Given the description of an element on the screen output the (x, y) to click on. 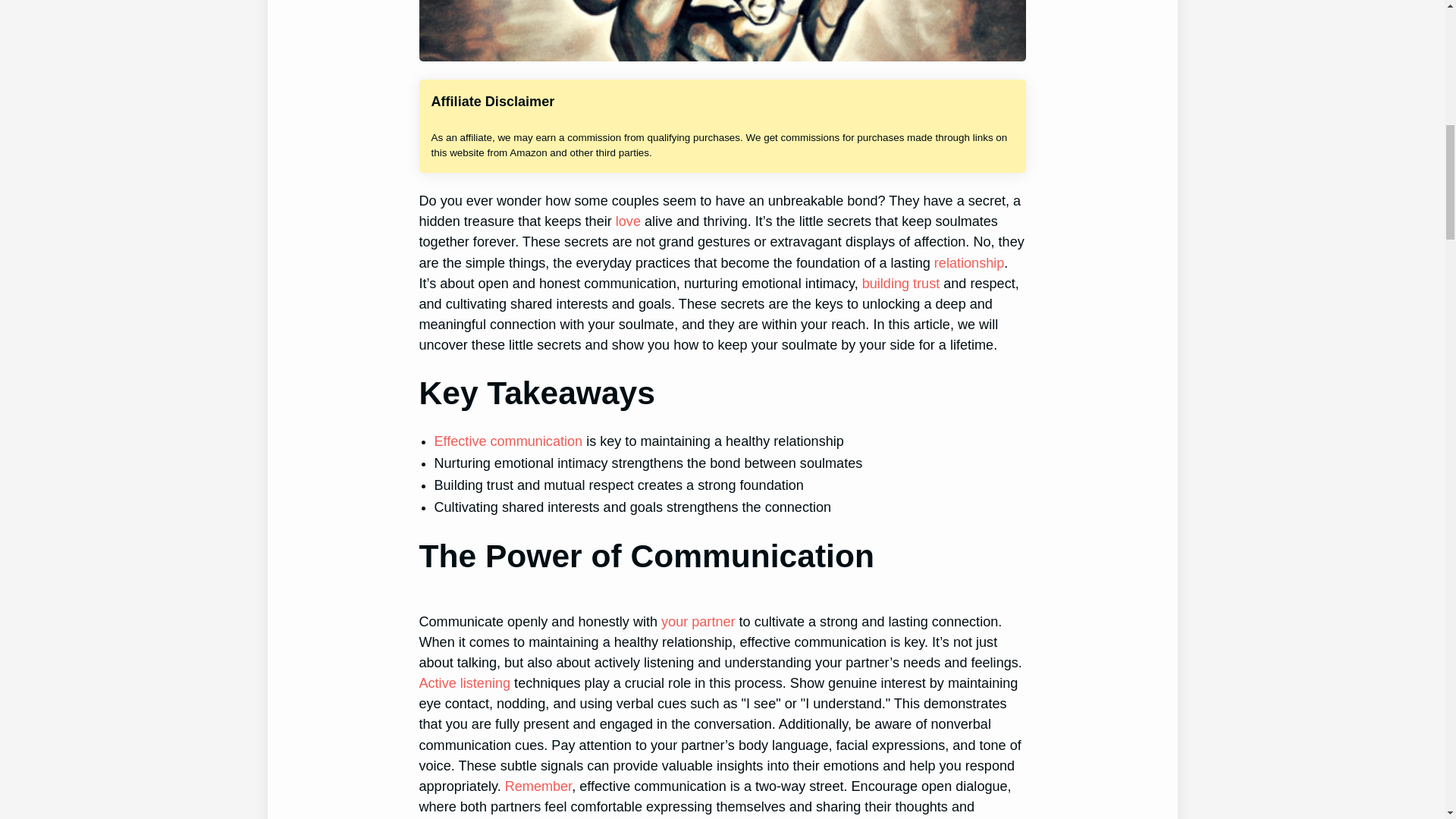
Active listening (465, 683)
Active listening (465, 683)
Effective communication (507, 441)
Remember (538, 785)
Effective communication (507, 441)
building trust (900, 283)
relationship (969, 263)
your partner (698, 621)
your partner (698, 621)
relationship (969, 263)
Remember (538, 785)
building trust (900, 283)
love (627, 221)
love (627, 221)
